Given the description of an element on the screen output the (x, y) to click on. 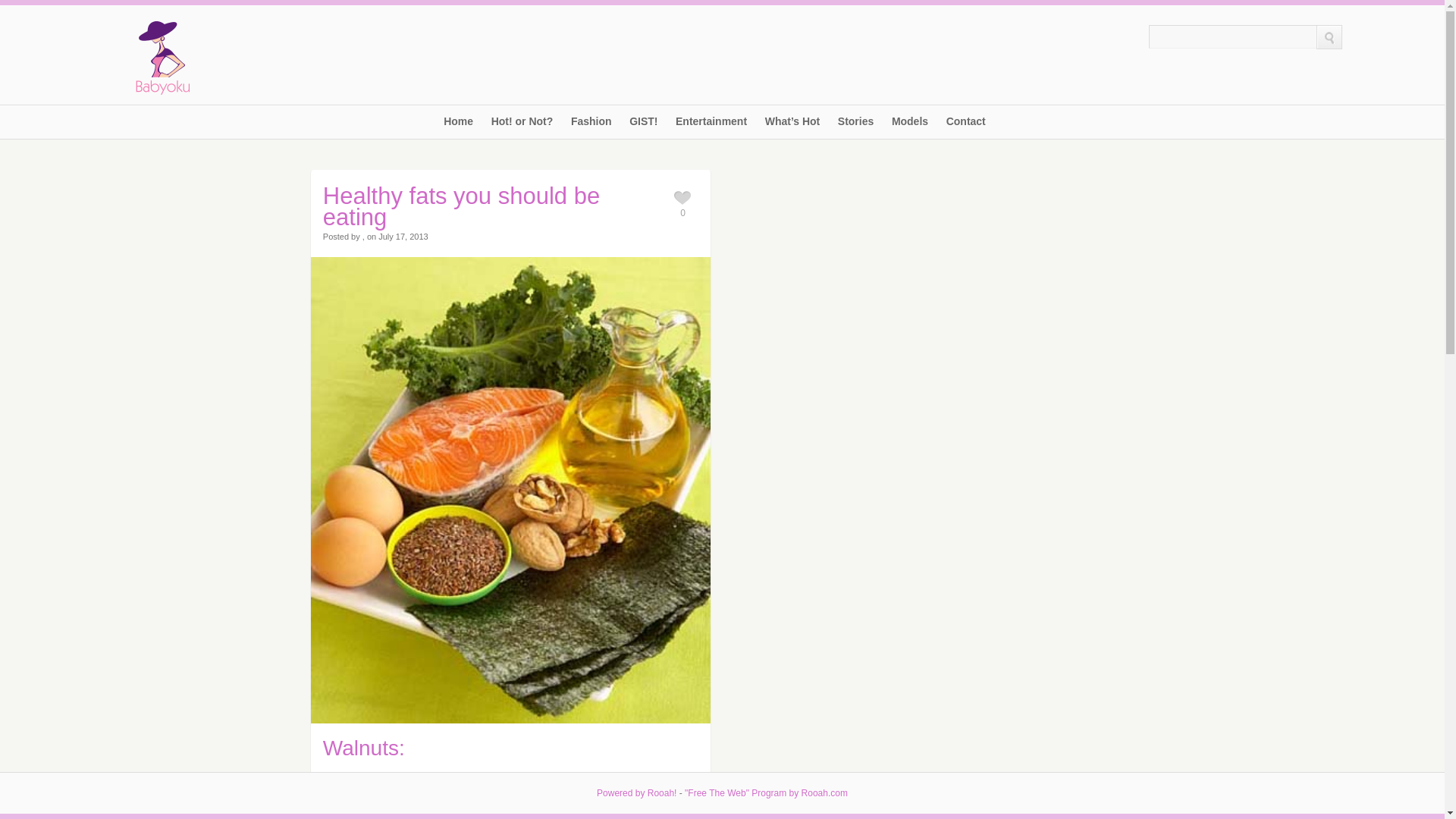
Hot! or Not? (522, 126)
Models (909, 126)
"Free The Web" Program by Rooah.com (765, 792)
Stories (855, 126)
Get Free Website Development (765, 792)
Search (1232, 36)
GIST! (643, 126)
Fashion (590, 126)
Contact (965, 126)
Powered by Rooah! (636, 792)
